Given the description of an element on the screen output the (x, y) to click on. 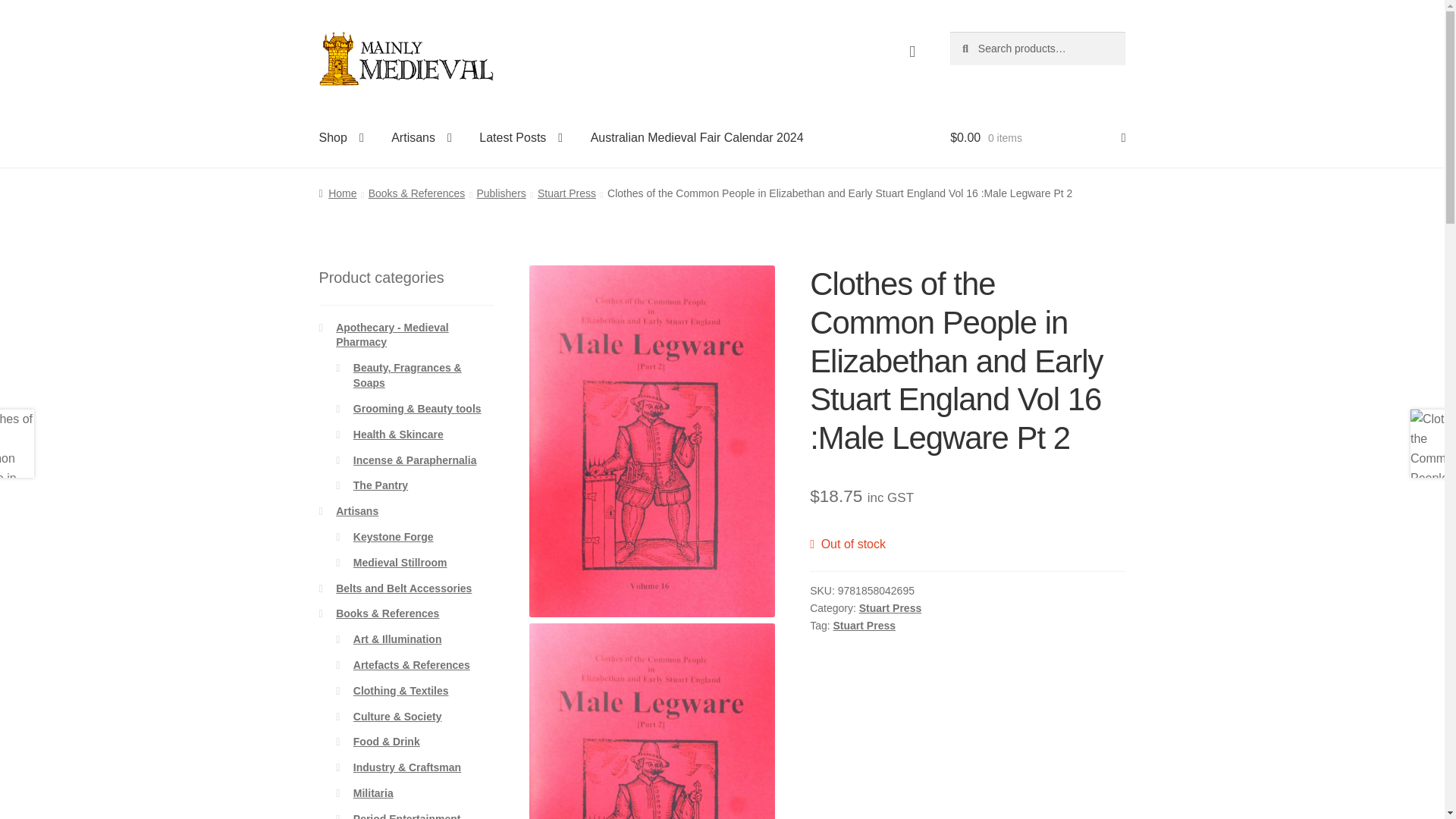
Publishers (500, 193)
Latest Posts (521, 137)
View your shopping cart (1037, 137)
Home (337, 193)
Artisans (421, 137)
Shop (341, 137)
Australian Medieval Fair Calendar 2024 (696, 137)
